Given the description of an element on the screen output the (x, y) to click on. 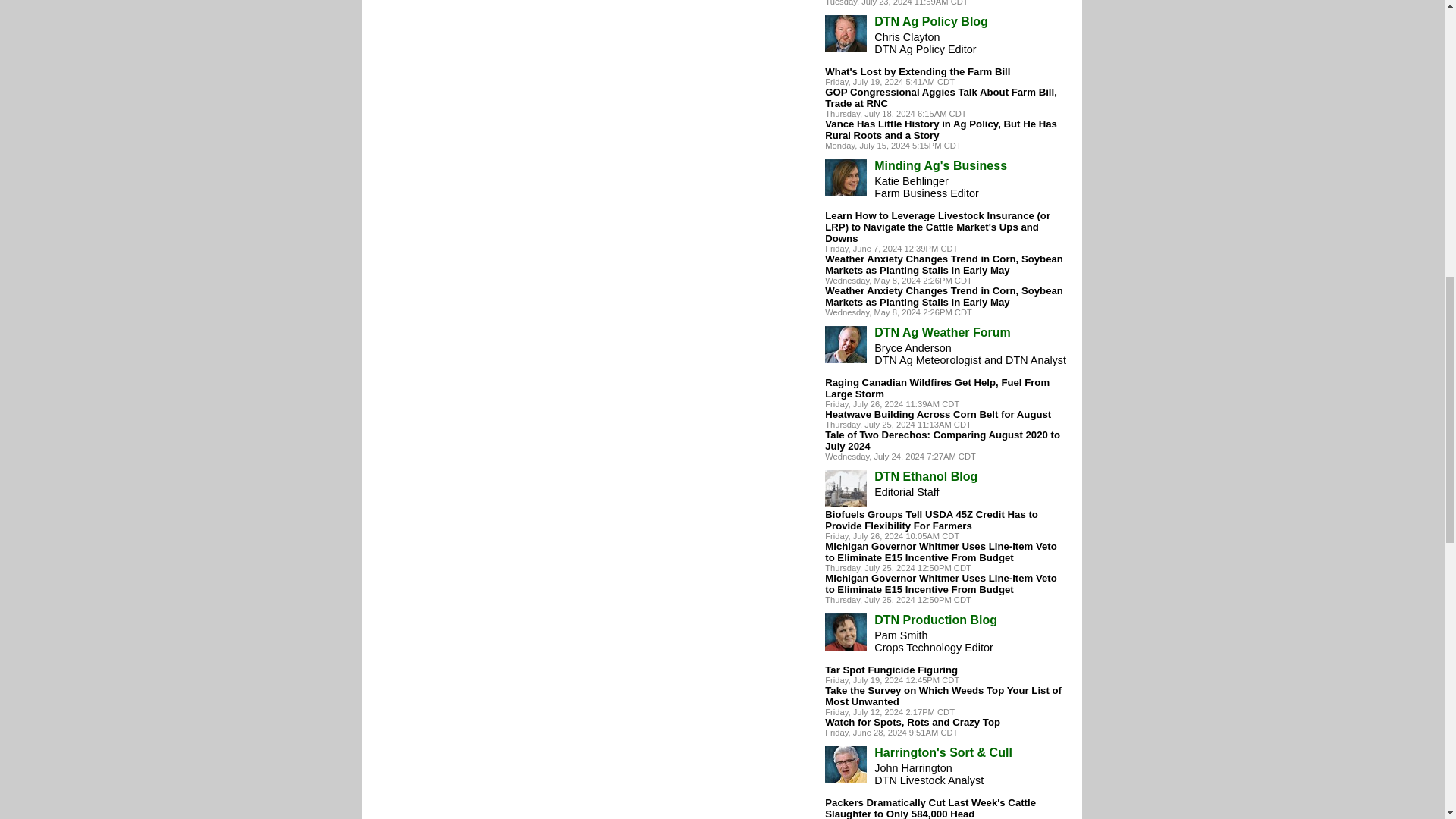
DTN Ag Policy Blog (931, 21)
What's Lost by Extending the Farm Bill (917, 71)
